Given the description of an element on the screen output the (x, y) to click on. 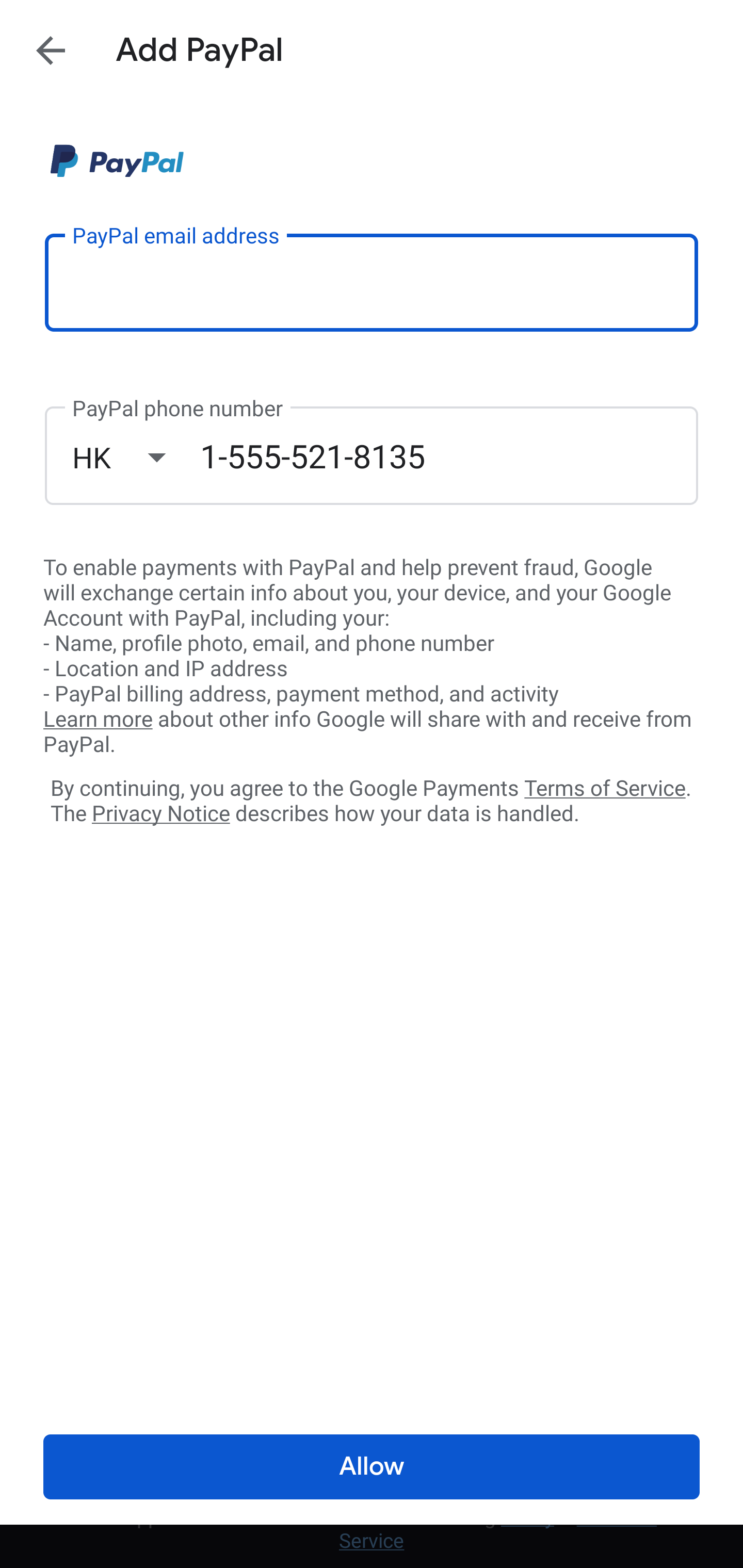
Navigate up (50, 50)
PayPal email address (371, 282)
HK (135, 456)
Learn more (97, 719)
Terms of Service (604, 787)
Privacy Notice (160, 814)
Allow (371, 1466)
